Given the description of an element on the screen output the (x, y) to click on. 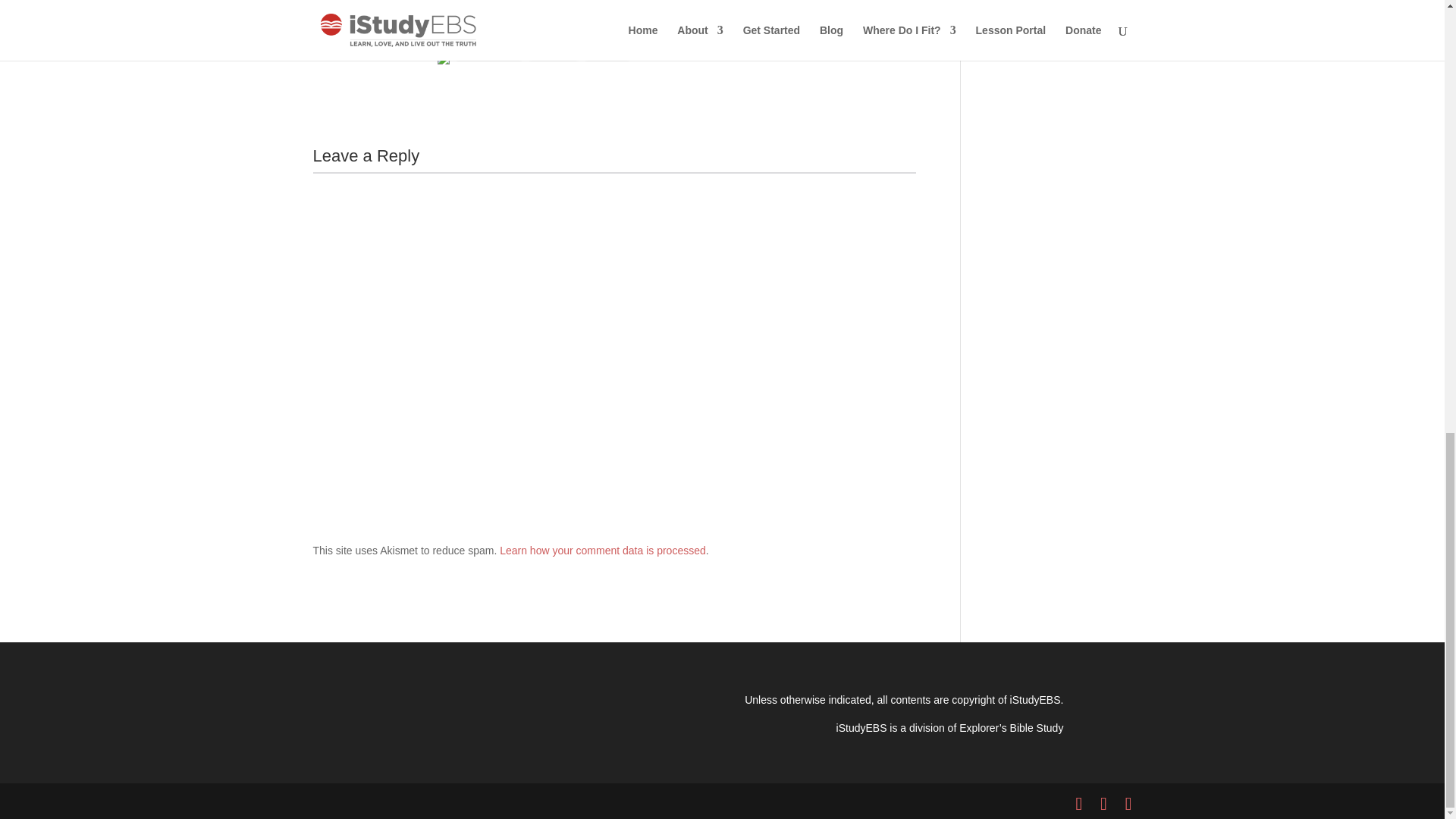
More (606, 52)
WhatsApp (488, 52)
Learn how your comment data is processed (602, 550)
Tweet (332, 51)
Share on Tumblr (392, 51)
Click to share on WhatsApp (488, 52)
Click to share on Reddit (553, 52)
Share on Tumblr (392, 51)
Reddit (553, 52)
